Given the description of an element on the screen output the (x, y) to click on. 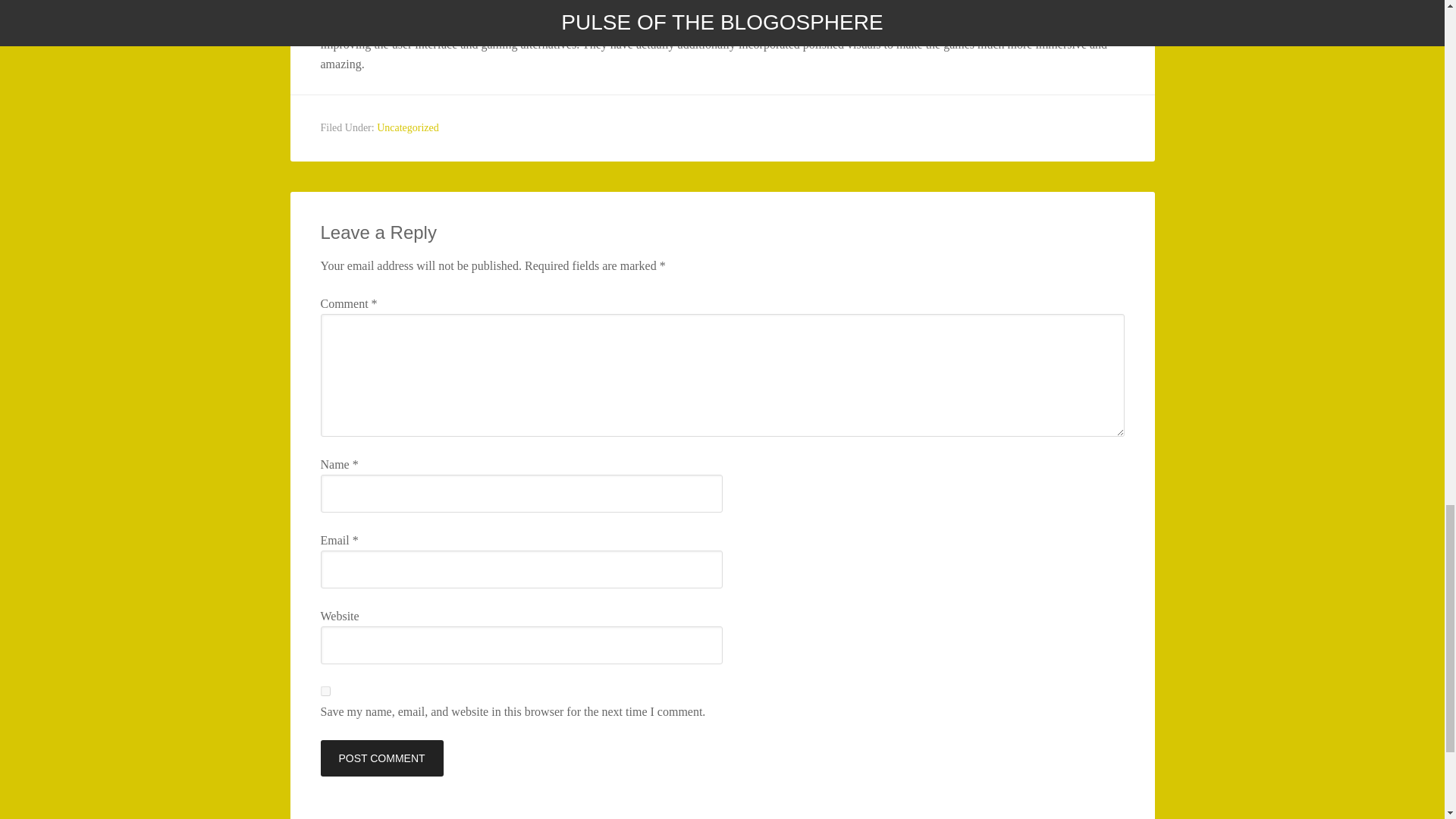
Post Comment (381, 758)
Uncategorized (408, 127)
yes (325, 691)
Post Comment (381, 758)
